Given the description of an element on the screen output the (x, y) to click on. 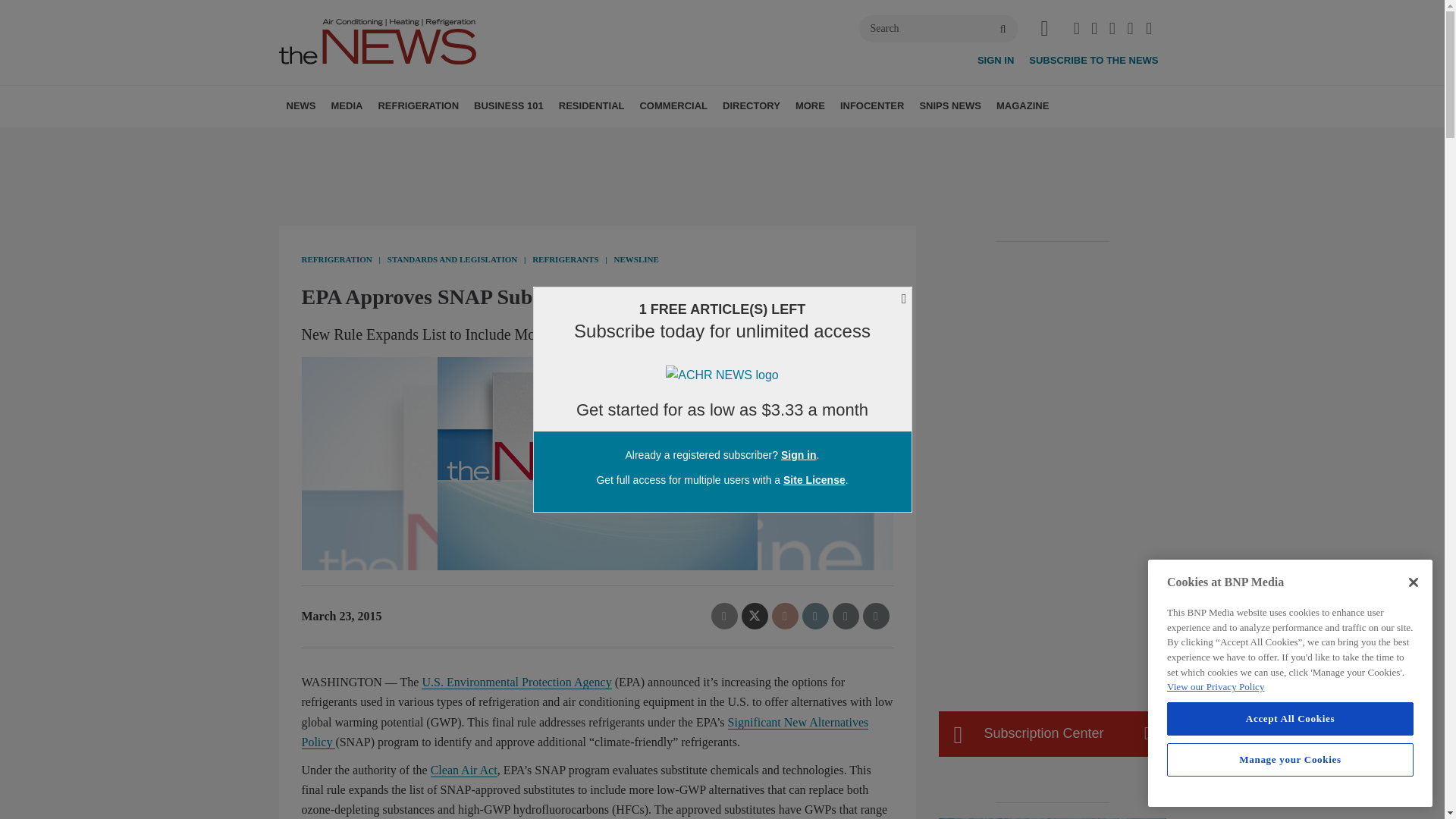
Search (938, 28)
Search (938, 28)
